Given the description of an element on the screen output the (x, y) to click on. 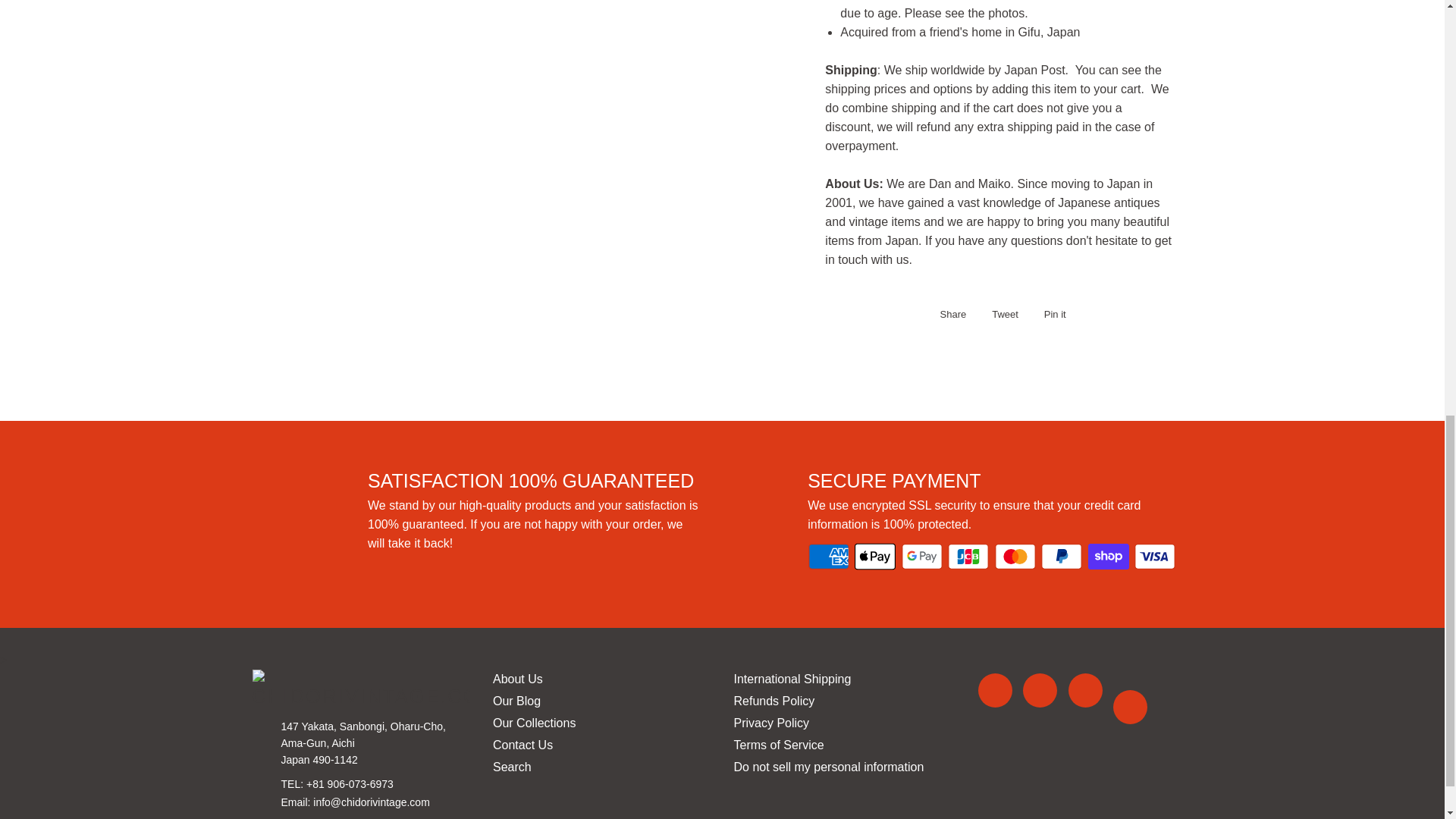
chidorivintage.com on Facebook (994, 690)
PayPal (1061, 556)
JCB (967, 556)
Apple Pay (874, 556)
Mastercard (1014, 556)
chidorivintage.com on Pinterest (1085, 690)
chidorivintage.com on Instagram (1130, 706)
Shop Pay (1108, 556)
chidorivintage.com on Twitter (1040, 690)
Google Pay (921, 556)
Share on Facebook (949, 314)
Tweet on Twitter (1001, 314)
Pin on Pinterest (1051, 314)
Visa (1154, 556)
American Express (828, 556)
